Given the description of an element on the screen output the (x, y) to click on. 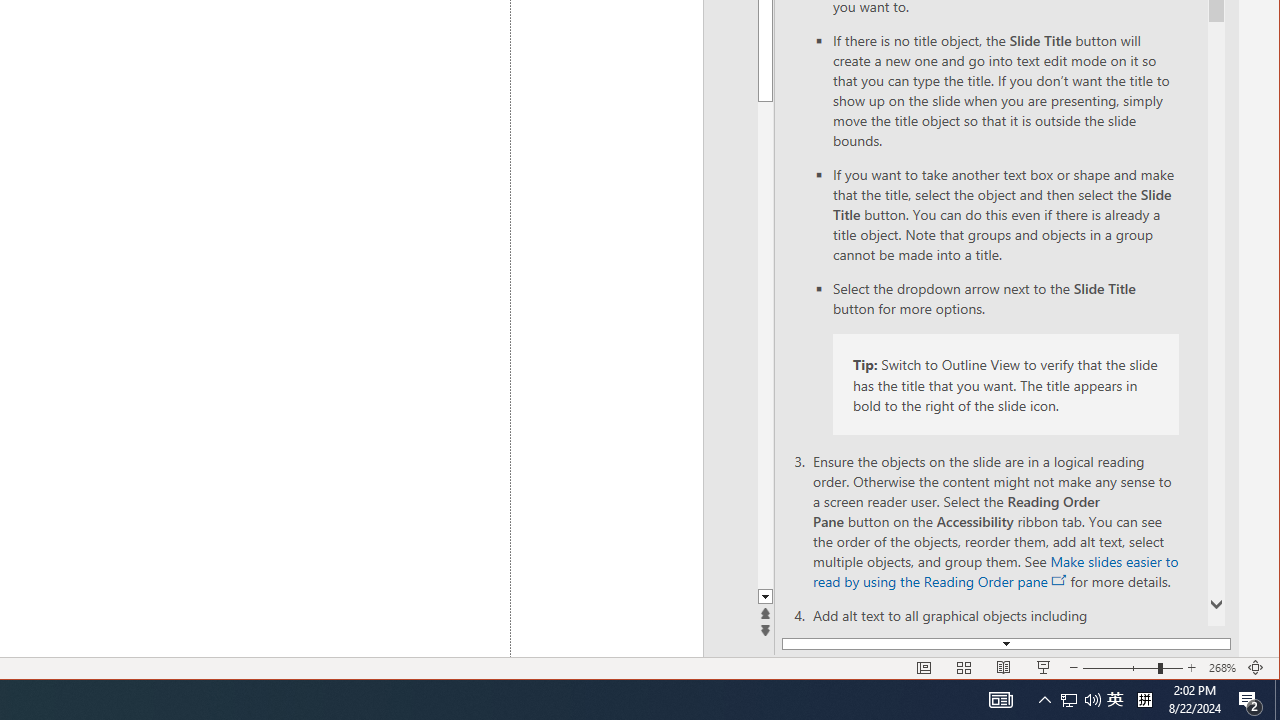
Zoom 268% (1222, 668)
